Given the description of an element on the screen output the (x, y) to click on. 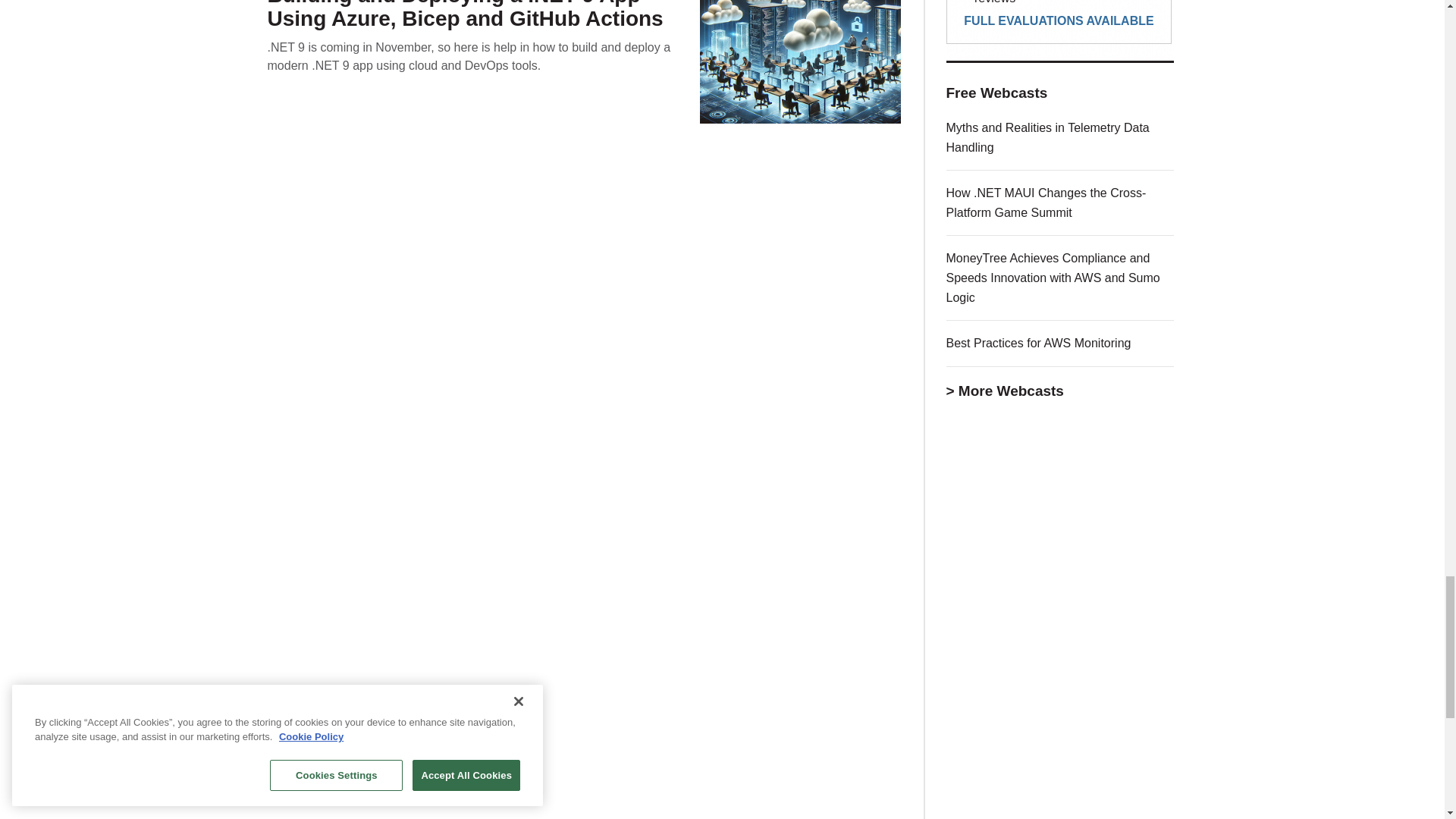
3rd party ad content (1059, 30)
3rd party ad content (1059, 749)
3rd party ad content (1059, 547)
